Given the description of an element on the screen output the (x, y) to click on. 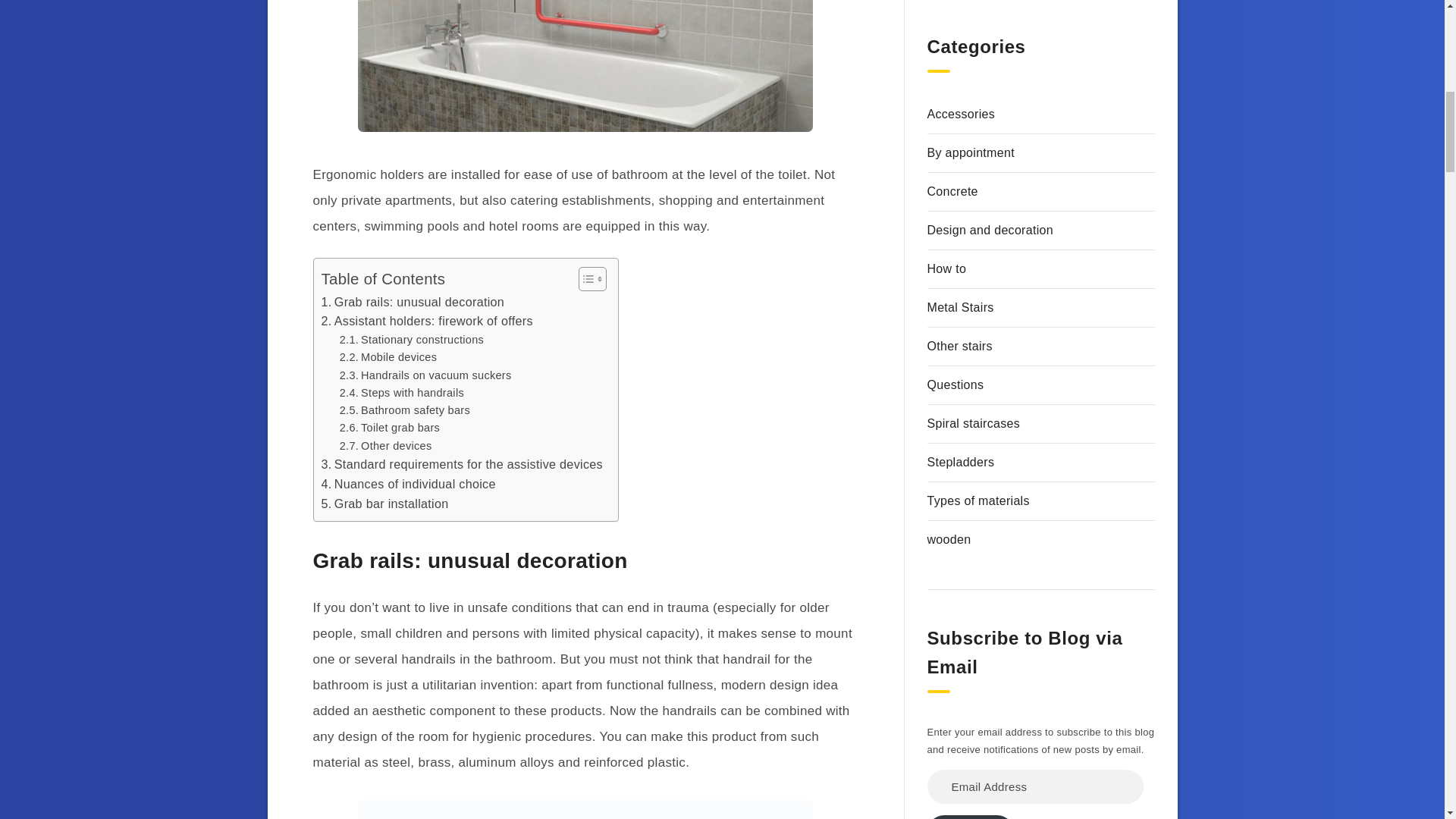
Grab rails: unusual decoration (413, 302)
Grab rails: unusual decoration (413, 302)
Steps with handrails (401, 393)
Steps with handrails (401, 393)
Standard requirements for the assistive devices (461, 465)
Bathroom safety bars (404, 410)
Mobile devices (388, 357)
Stationary constructions (411, 339)
Assistant holders: firework of offers (426, 321)
Mobile devices (388, 357)
